Given the description of an element on the screen output the (x, y) to click on. 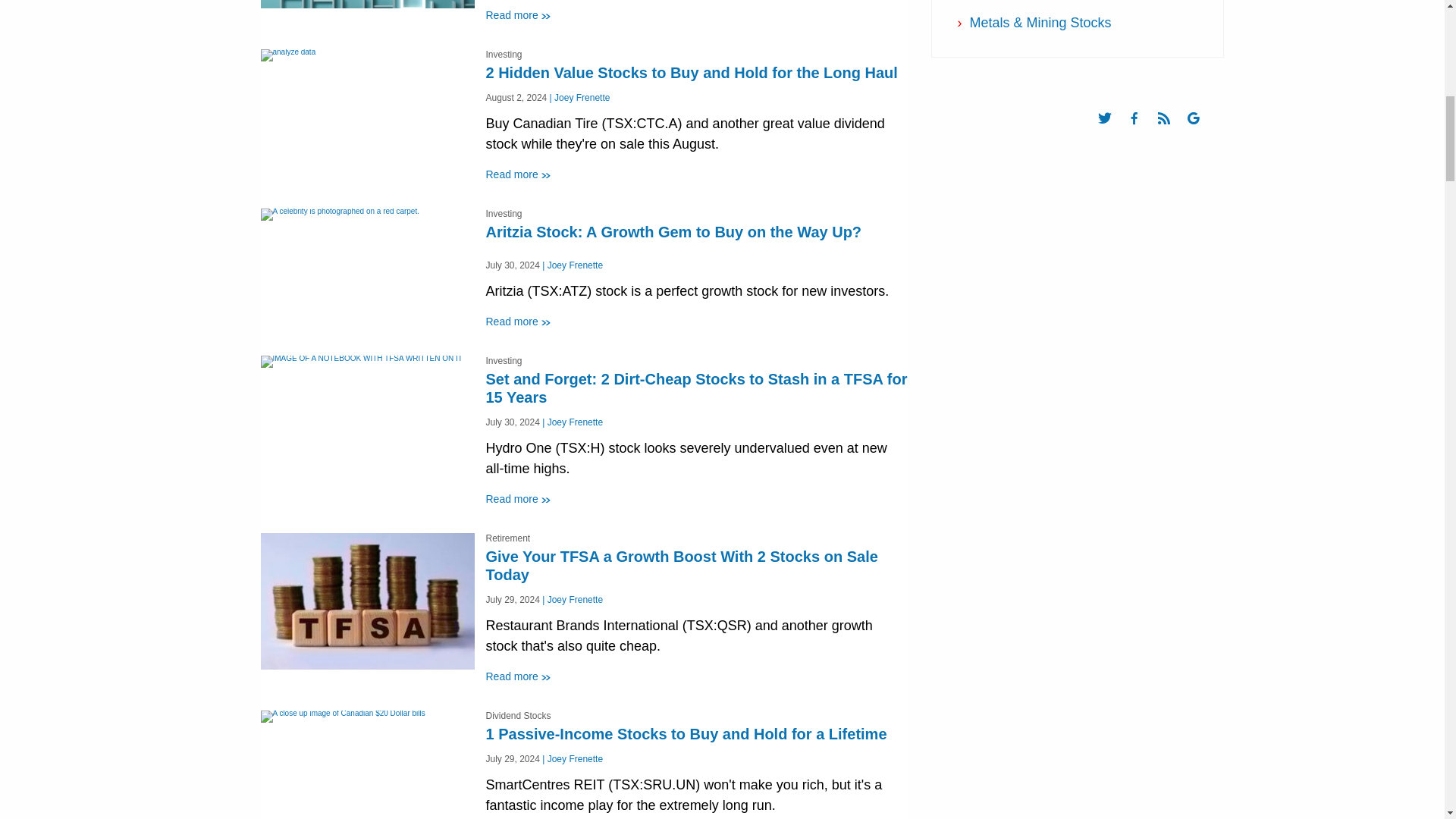
Subscribe to our feed (1171, 131)
Follow us on Twitter (1111, 131)
Like us on Facebook (1141, 131)
